Given the description of an element on the screen output the (x, y) to click on. 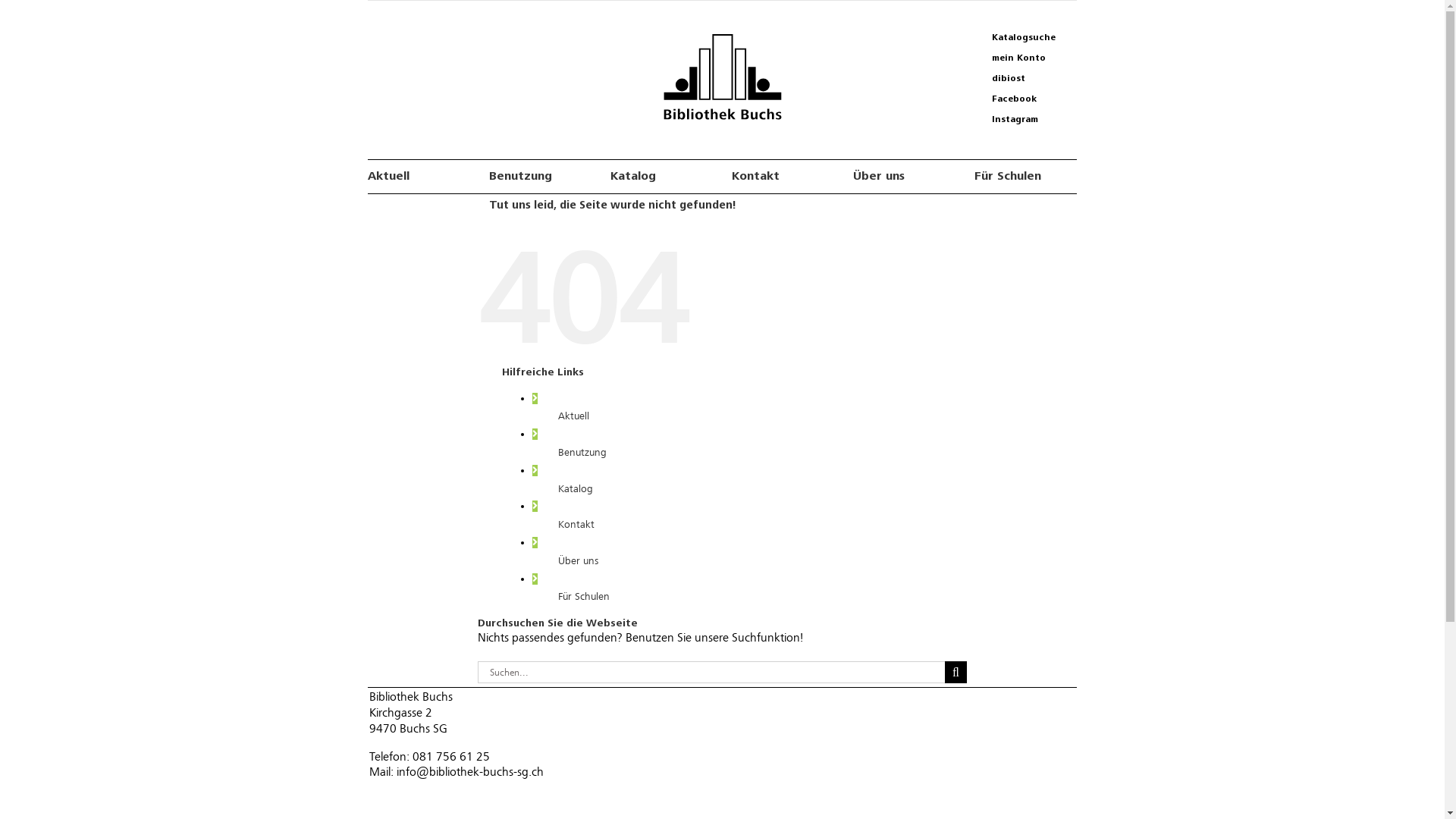
mein Konto Element type: text (1023, 57)
Aktuell Element type: text (418, 176)
081 756 61 25 Element type: text (450, 756)
info@bibliothek-buchs-sg.ch Element type: text (469, 771)
Aktuell Element type: text (573, 415)
Instagram Element type: text (1023, 119)
Benutzung Element type: text (540, 176)
Kontakt Element type: text (782, 176)
Katalog Element type: text (575, 488)
Benutzung Element type: text (582, 452)
Kontakt Element type: text (576, 524)
Katalog Element type: text (661, 176)
Facebook Element type: text (1023, 98)
dibiost Element type: text (1023, 78)
Katalogsuche Element type: text (1023, 37)
